Given the description of an element on the screen output the (x, y) to click on. 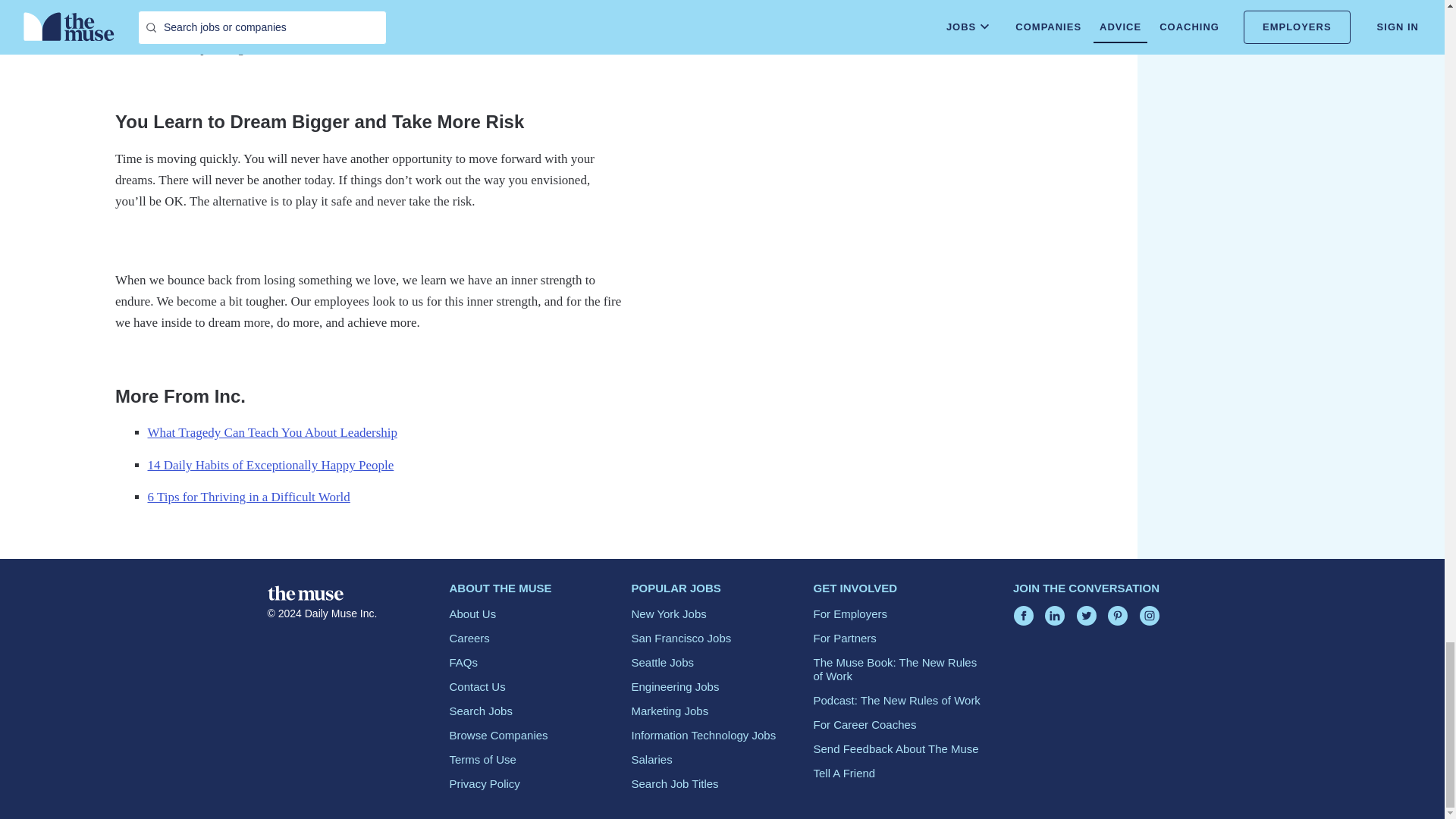
The Muse LogoA logo with "the muse" in white text. (304, 592)
